Given the description of an element on the screen output the (x, y) to click on. 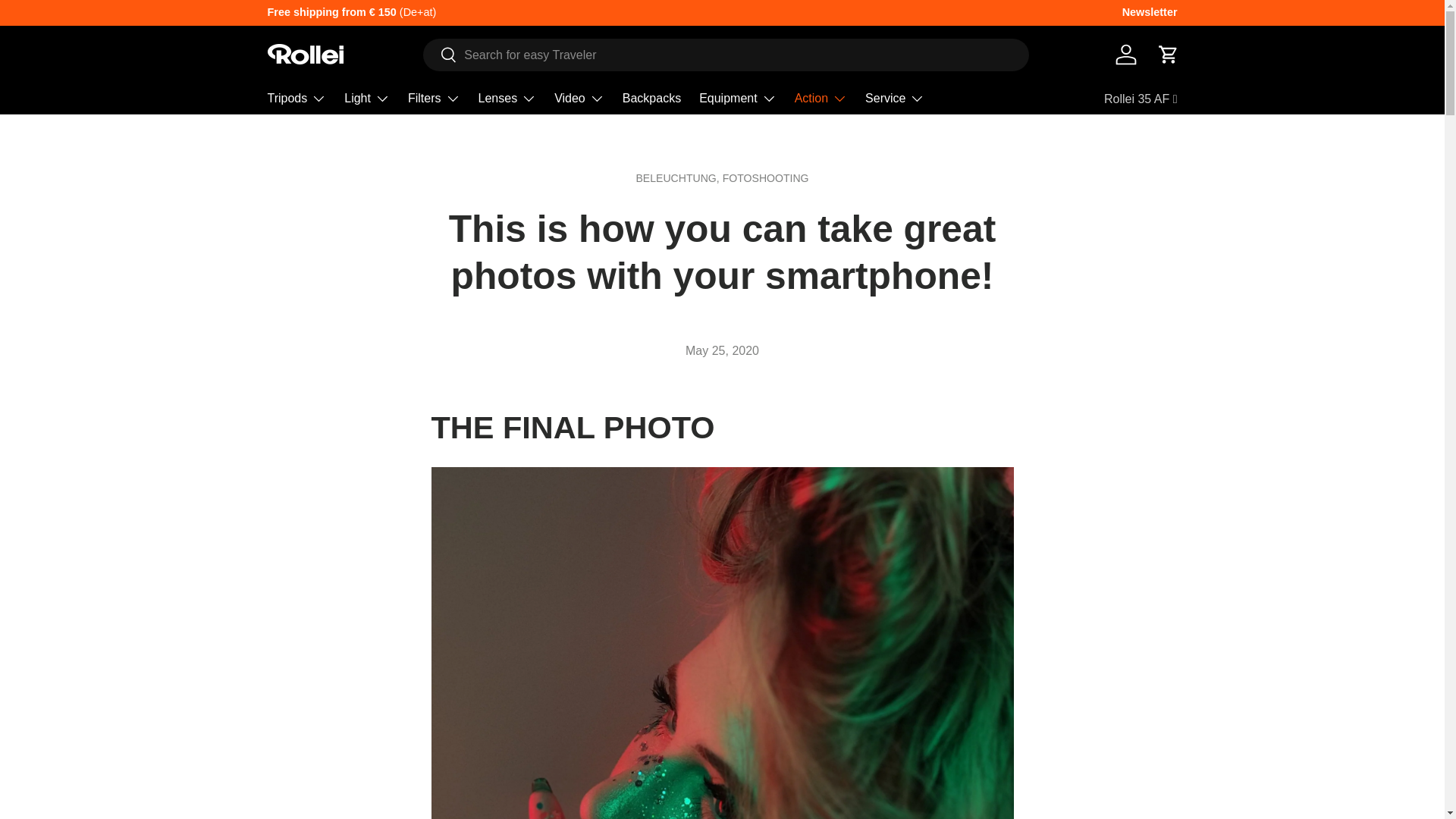
Tripods (296, 98)
Log in (1124, 54)
Skip to content (69, 21)
Learn more (1236, 11)
Seek (440, 55)
Cart (1168, 54)
Light (366, 98)
Newsletter (1149, 12)
